Given the description of an element on the screen output the (x, y) to click on. 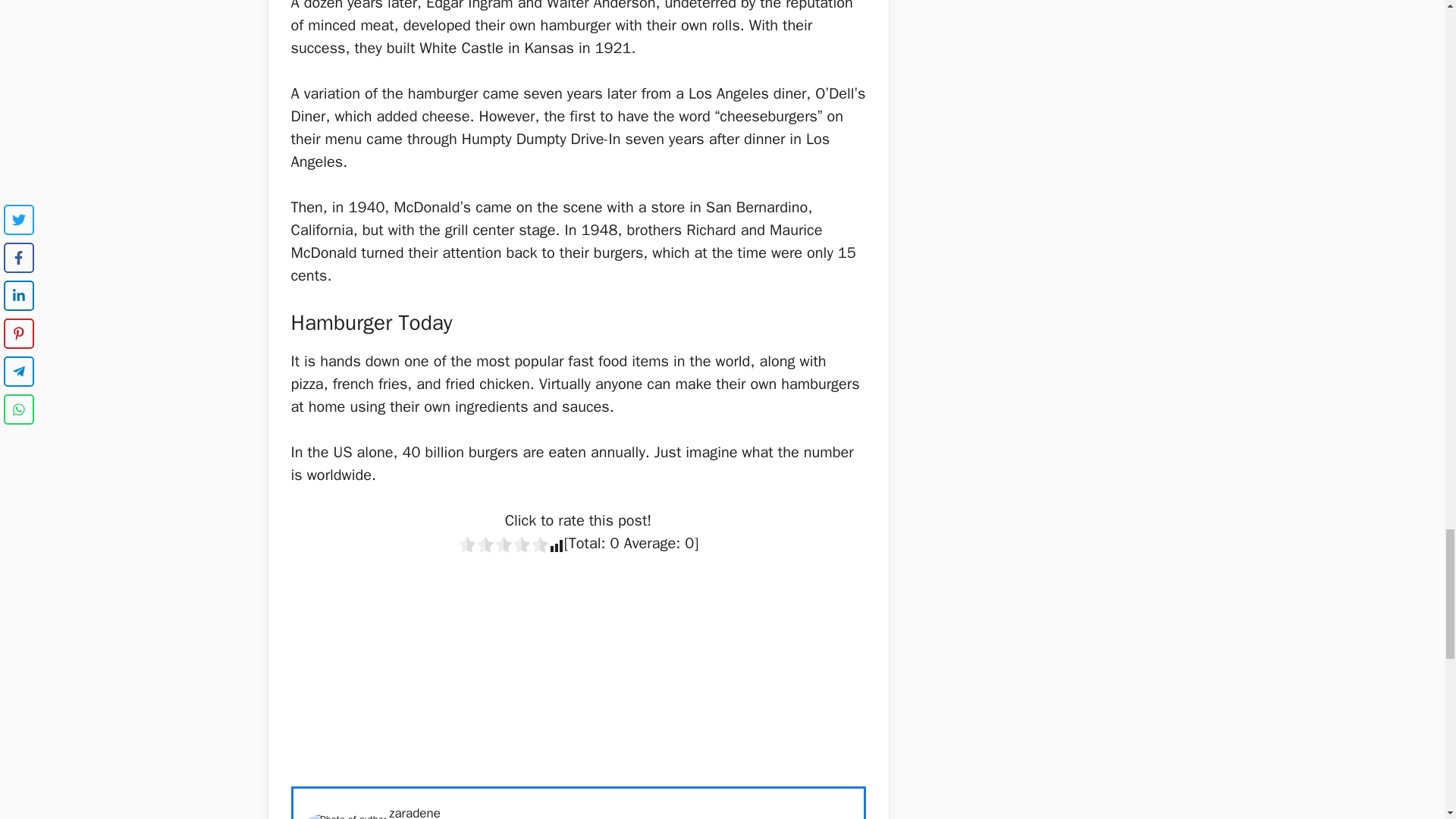
zaradene (414, 812)
